Given the description of an element on the screen output the (x, y) to click on. 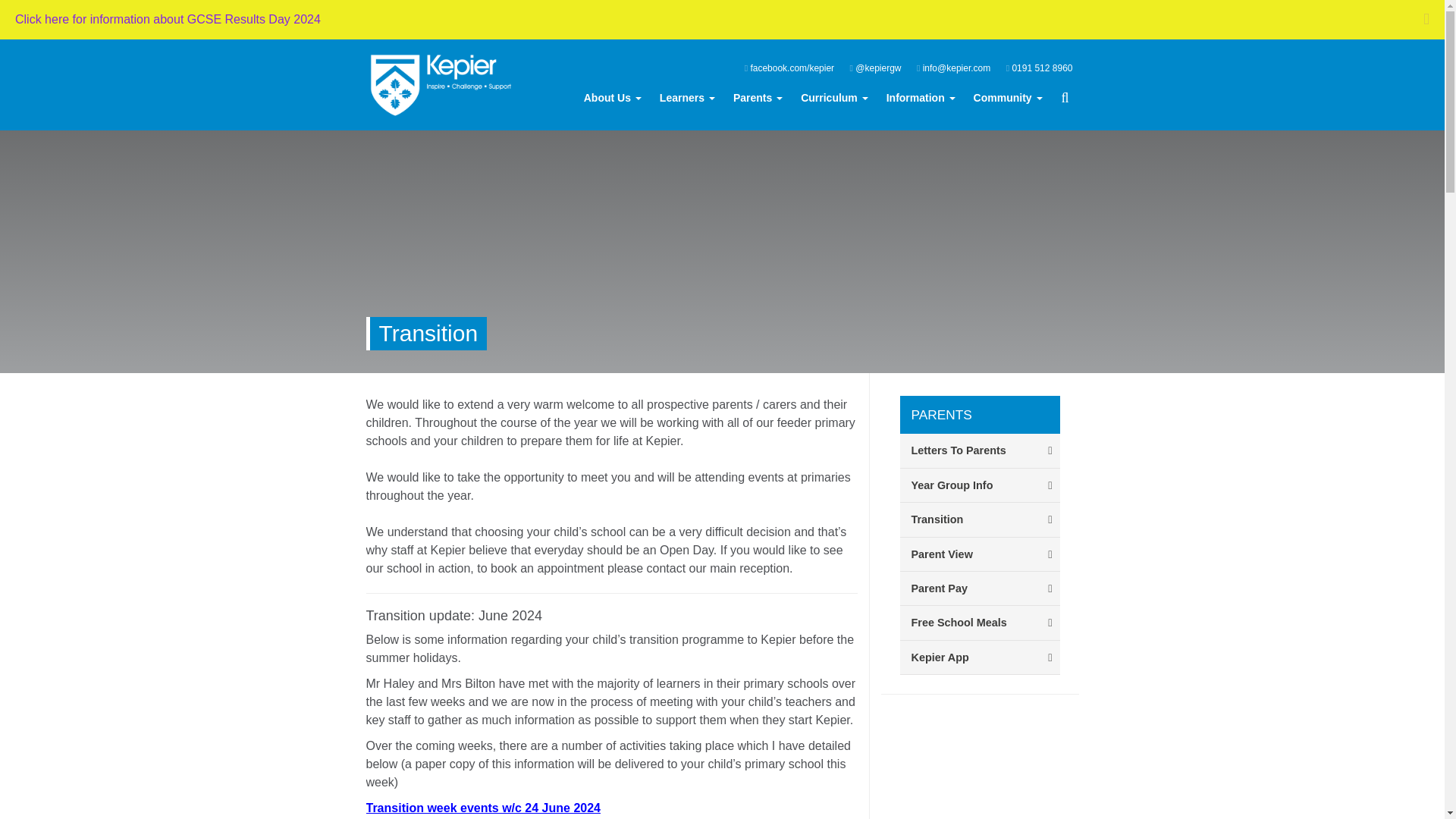
About Us (612, 97)
Learners (686, 97)
About Us (612, 97)
Parents (757, 97)
0191 512 8960 (1039, 67)
Click here for information about GCSE Results Day 2024 (167, 19)
Learners (686, 97)
